Given the description of an element on the screen output the (x, y) to click on. 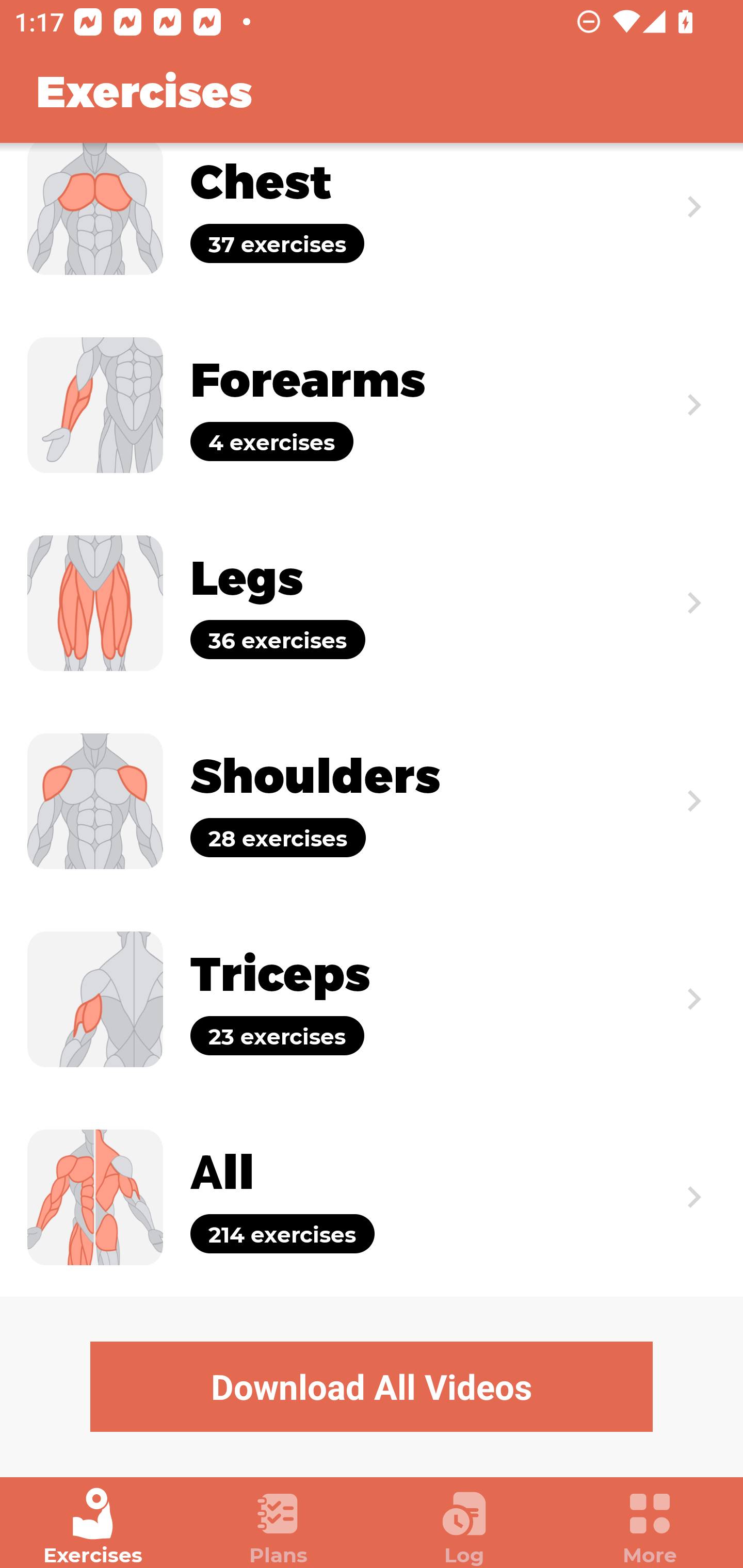
Exercise Chest 37 exercises (371, 223)
Exercise Forearms 4 exercises (371, 404)
Exercise Legs 36 exercises (371, 602)
Exercise Shoulders 28 exercises (371, 801)
Exercise Triceps 23 exercises (371, 999)
Exercise Аll 214 exercises (371, 1196)
Download All Videos (371, 1386)
Exercises (92, 1527)
Plans (278, 1527)
Log (464, 1527)
More (650, 1527)
